Given the description of an element on the screen output the (x, y) to click on. 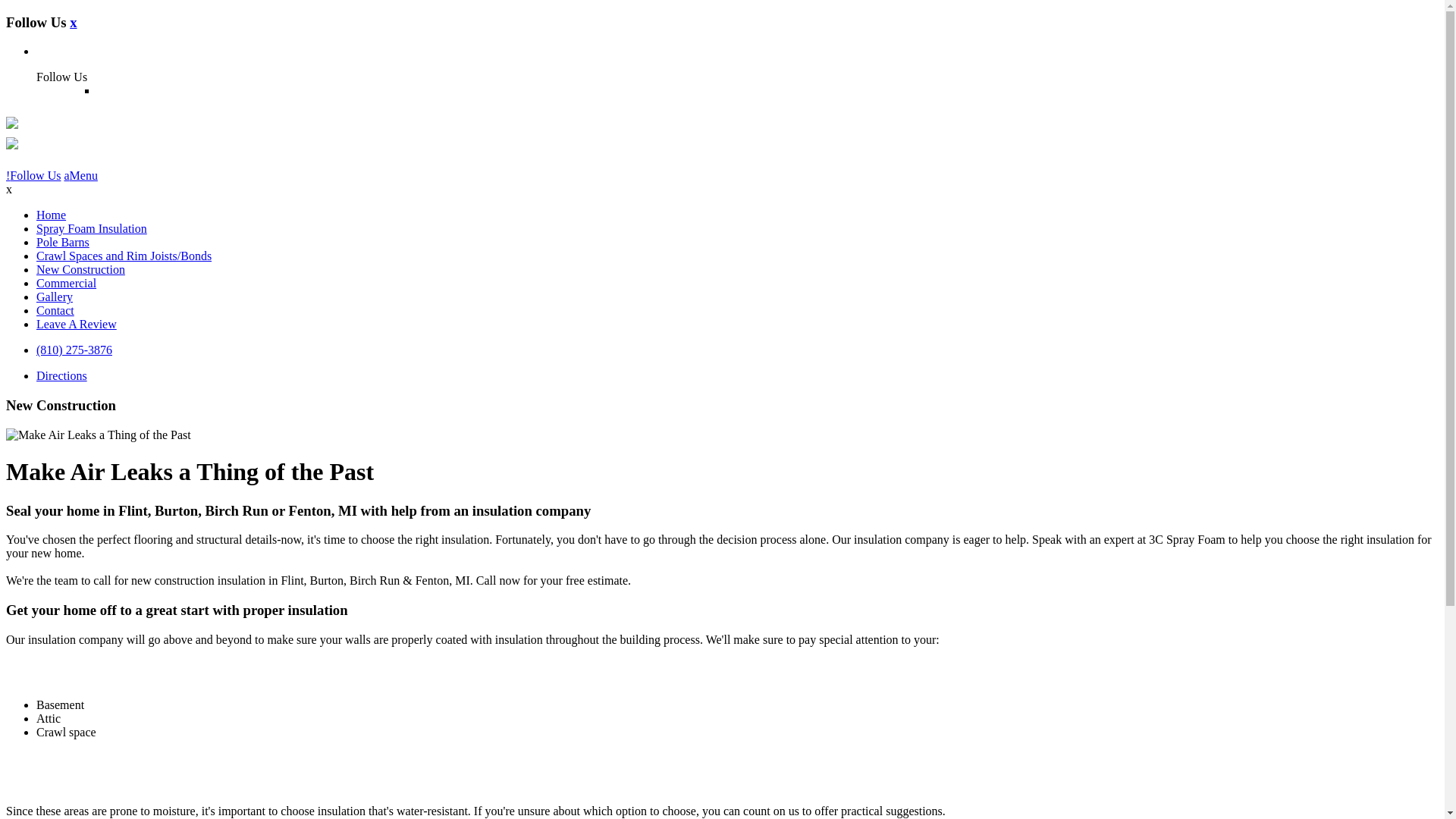
3C Spray Foam Element type: hover (12, 122)
Spray Foam Insulation Element type: text (91, 228)
Home Element type: text (50, 214)
aMenu Element type: text (80, 175)
Commercial Element type: text (66, 282)
x Element type: text (72, 22)
New Construction Element type: text (80, 269)
Crawl Spaces and Rim Joists/Bonds Element type: text (123, 255)
3C Spray Foam Element type: hover (12, 143)
Directions Element type: text (61, 375)
!Follow Us Element type: text (33, 175)
(810) 275-3876 Element type: text (74, 349)
Contact Element type: text (55, 310)
Gallery Element type: text (54, 296)
Pole Barns Element type: text (62, 241)
Leave A Review Element type: text (76, 323)
